Given the description of an element on the screen output the (x, y) to click on. 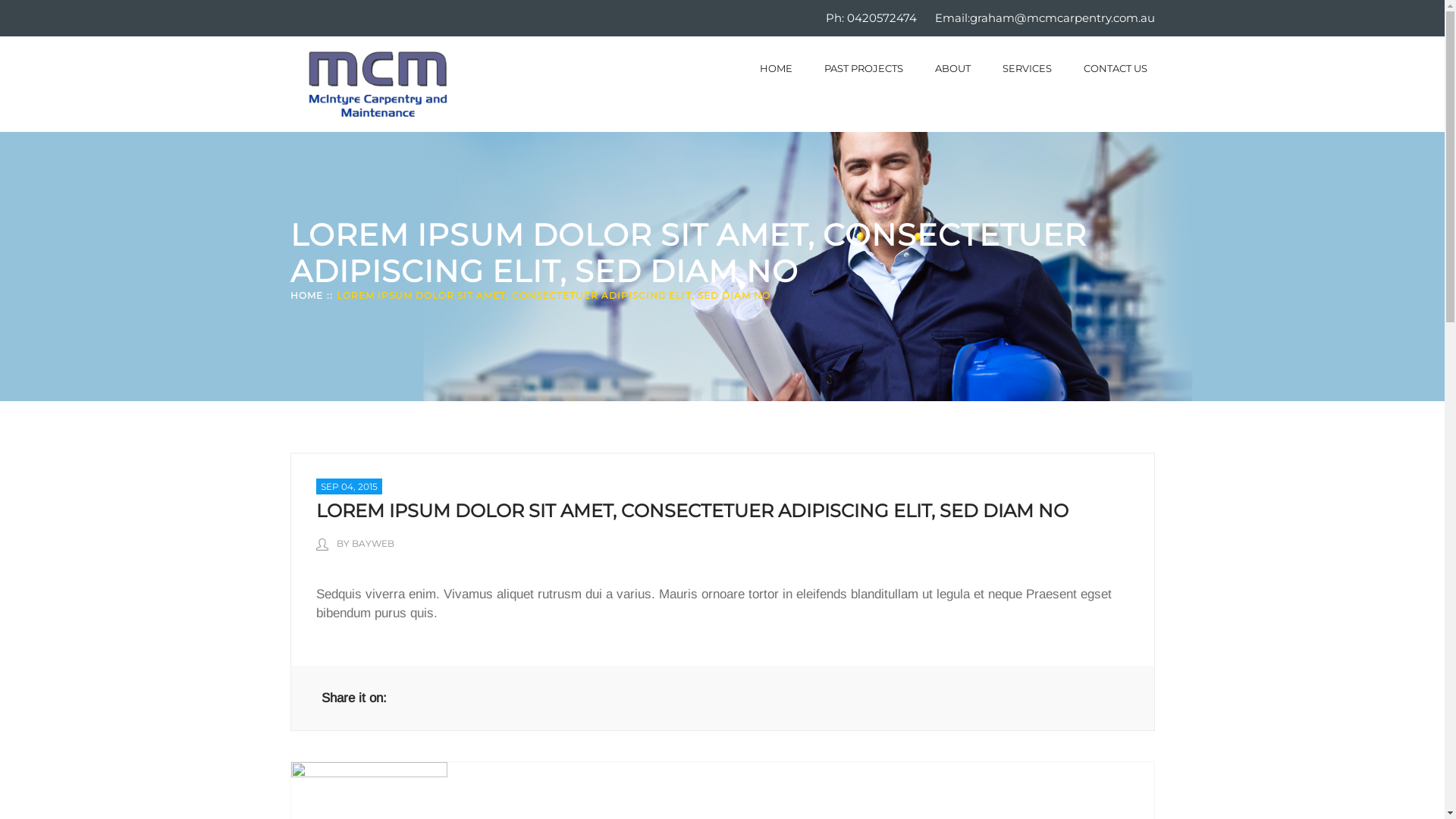
BAYWEB Element type: text (372, 543)
CONTACT US Element type: text (1114, 68)
SERVICES Element type: text (1026, 68)
HOME Element type: text (776, 68)
ABOUT Element type: text (951, 68)
HOME Element type: text (305, 295)
graham@mcmcarpentry.com.au Element type: text (1061, 17)
PAST PROJECTS Element type: text (862, 68)
0420572474 Element type: text (881, 17)
